Given the description of an element on the screen output the (x, y) to click on. 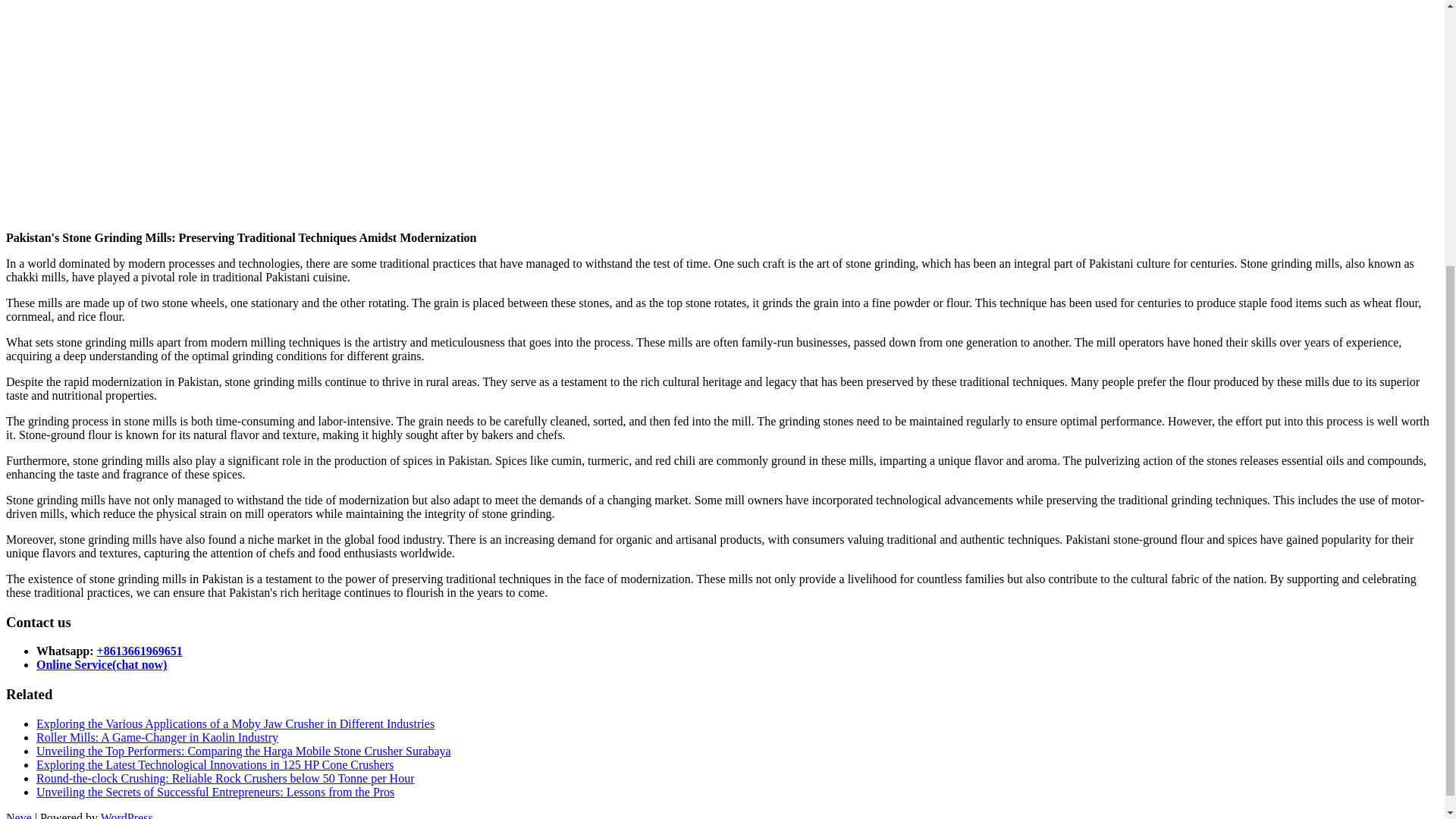
Roller Mills: A Game-Changer in Kaolin Industry (157, 737)
